Given the description of an element on the screen output the (x, y) to click on. 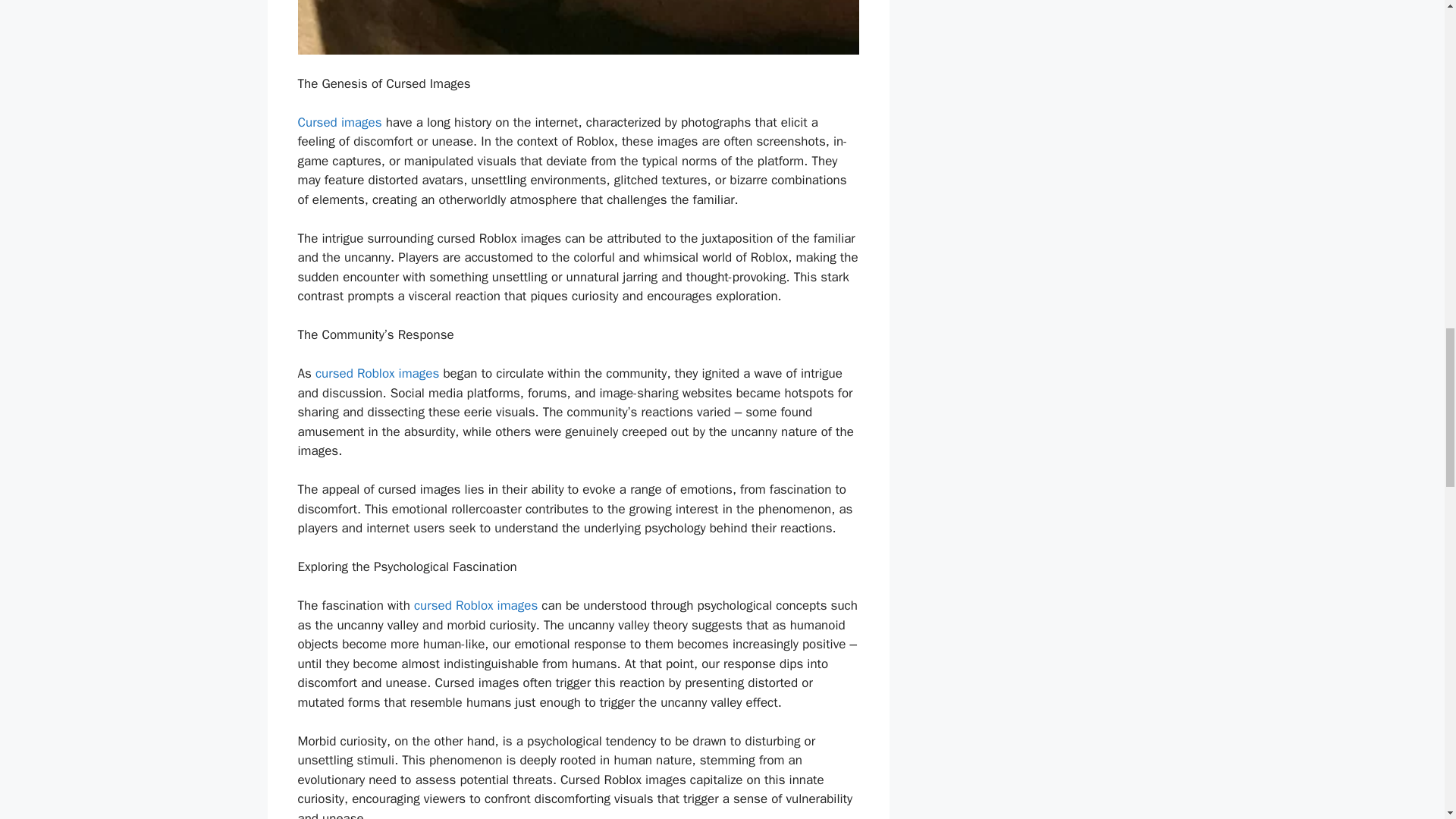
cursed Roblox images (475, 605)
Cursed images (339, 122)
cursed Roblox images (377, 373)
